Given the description of an element on the screen output the (x, y) to click on. 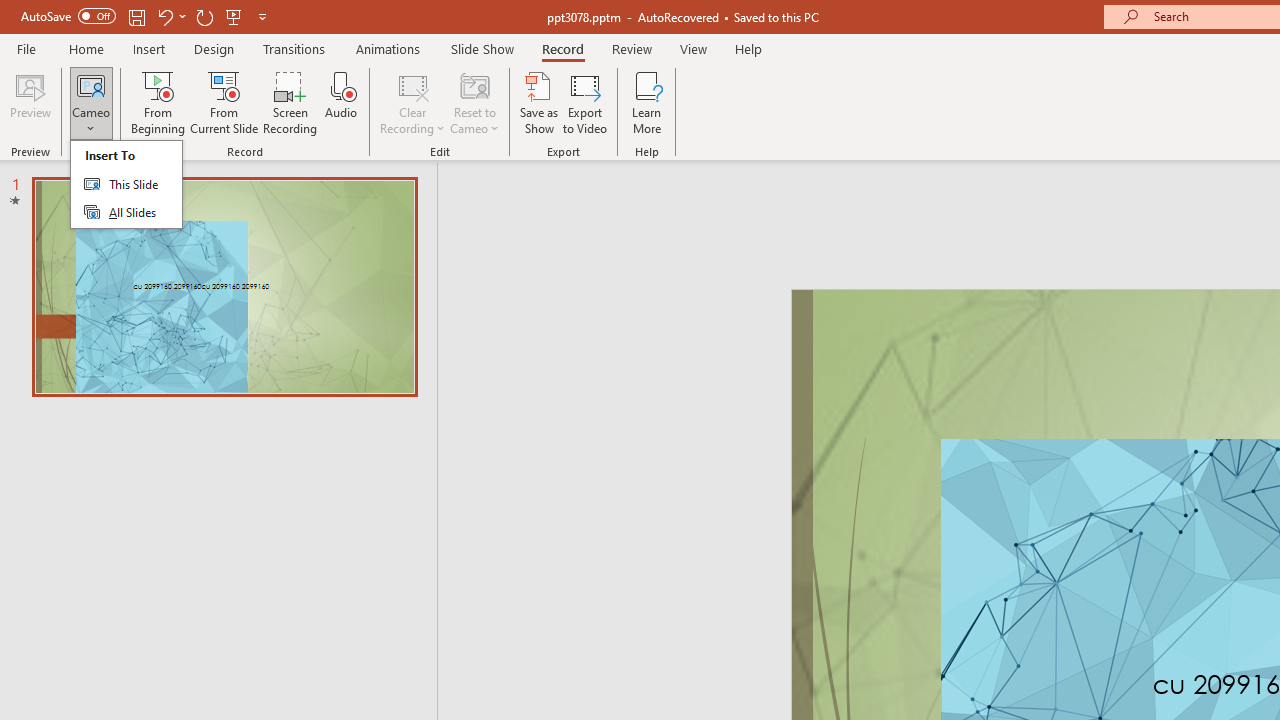
Cameo (91, 102)
Audio (341, 102)
Save as Show (539, 102)
Export to Video (585, 102)
System (10, 11)
From Beginning (234, 15)
